Given the description of an element on the screen output the (x, y) to click on. 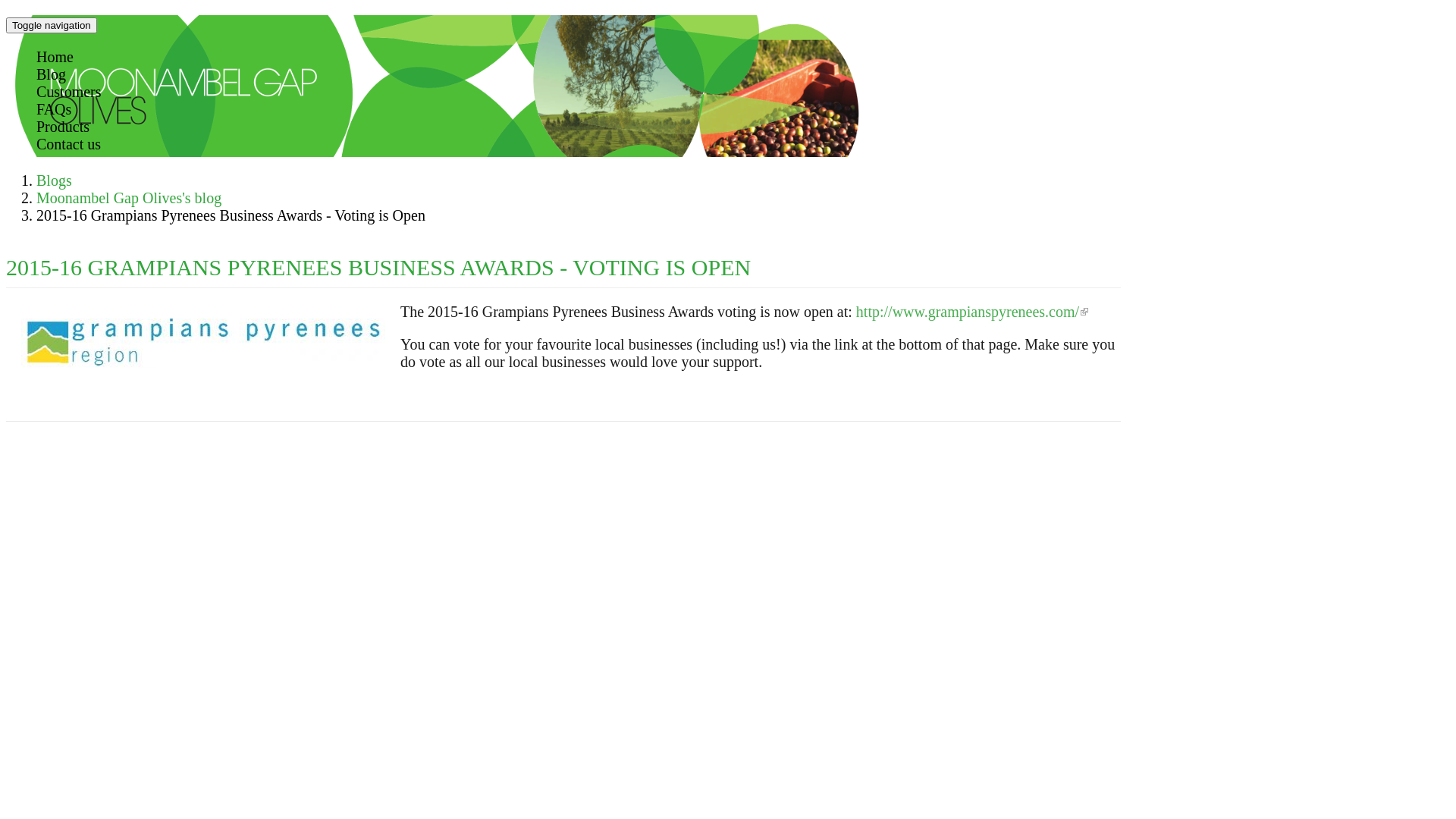
FAQs Element type: text (53, 108)
Blogs Element type: text (54, 180)
Contact us Element type: text (68, 143)
http://www.grampianspyrenees.com/
(link is external) Element type: text (972, 311)
Skip to main content Element type: text (6, 15)
Toggle navigation Element type: text (51, 25)
Blog Element type: text (50, 73)
Home Element type: text (54, 56)
Moonambel Gap Olives's blog Element type: text (128, 197)
Customers Element type: text (68, 91)
Products Element type: text (62, 126)
